Given the description of an element on the screen output the (x, y) to click on. 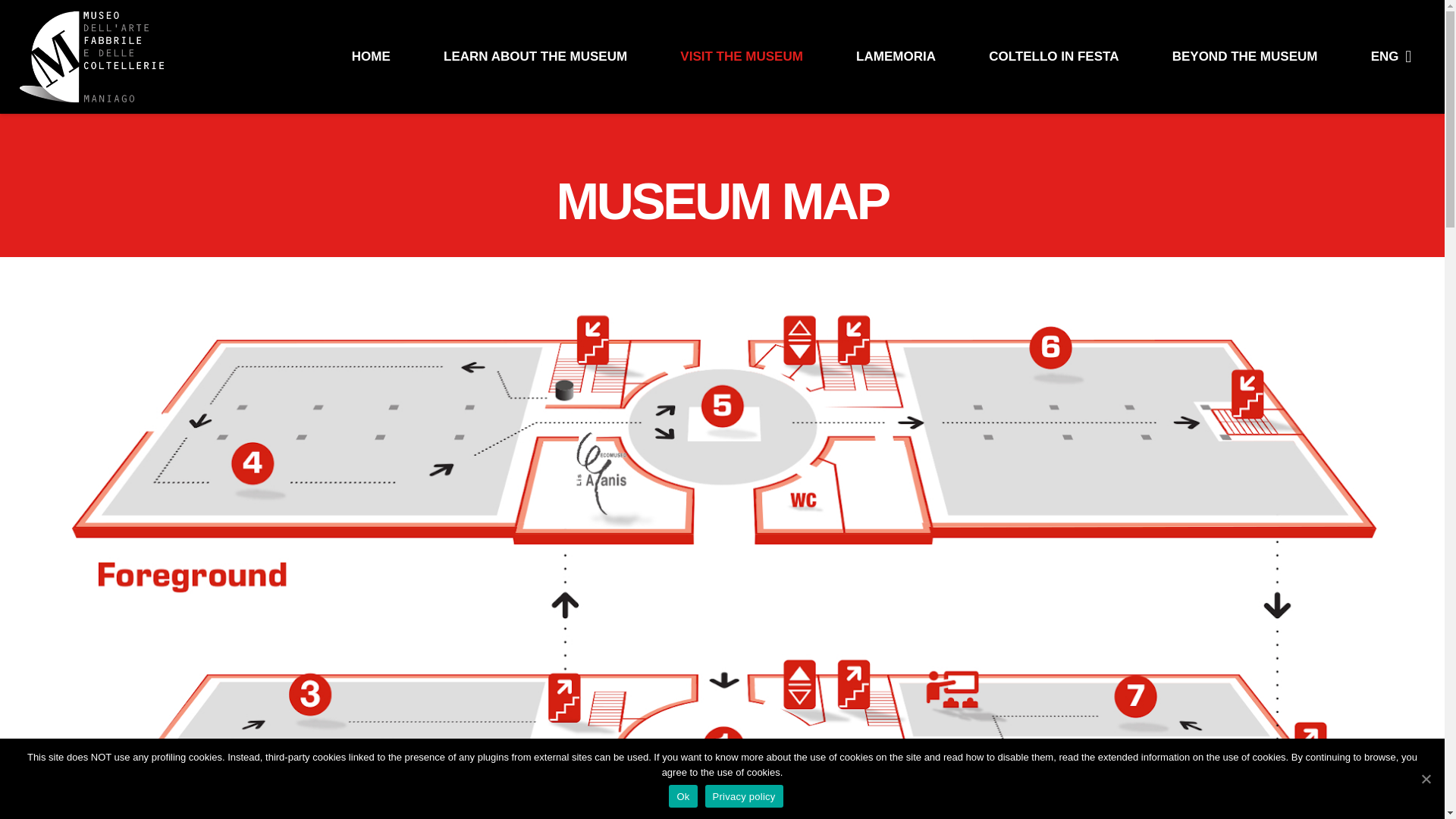
LAMEMORIA (896, 56)
VISIT THE MUSEUM (741, 56)
COLTELLO IN FESTA (1053, 56)
LEARN ABOUT THE MUSEUM (534, 56)
BEYOND THE MUSEUM (1245, 56)
